Given the description of an element on the screen output the (x, y) to click on. 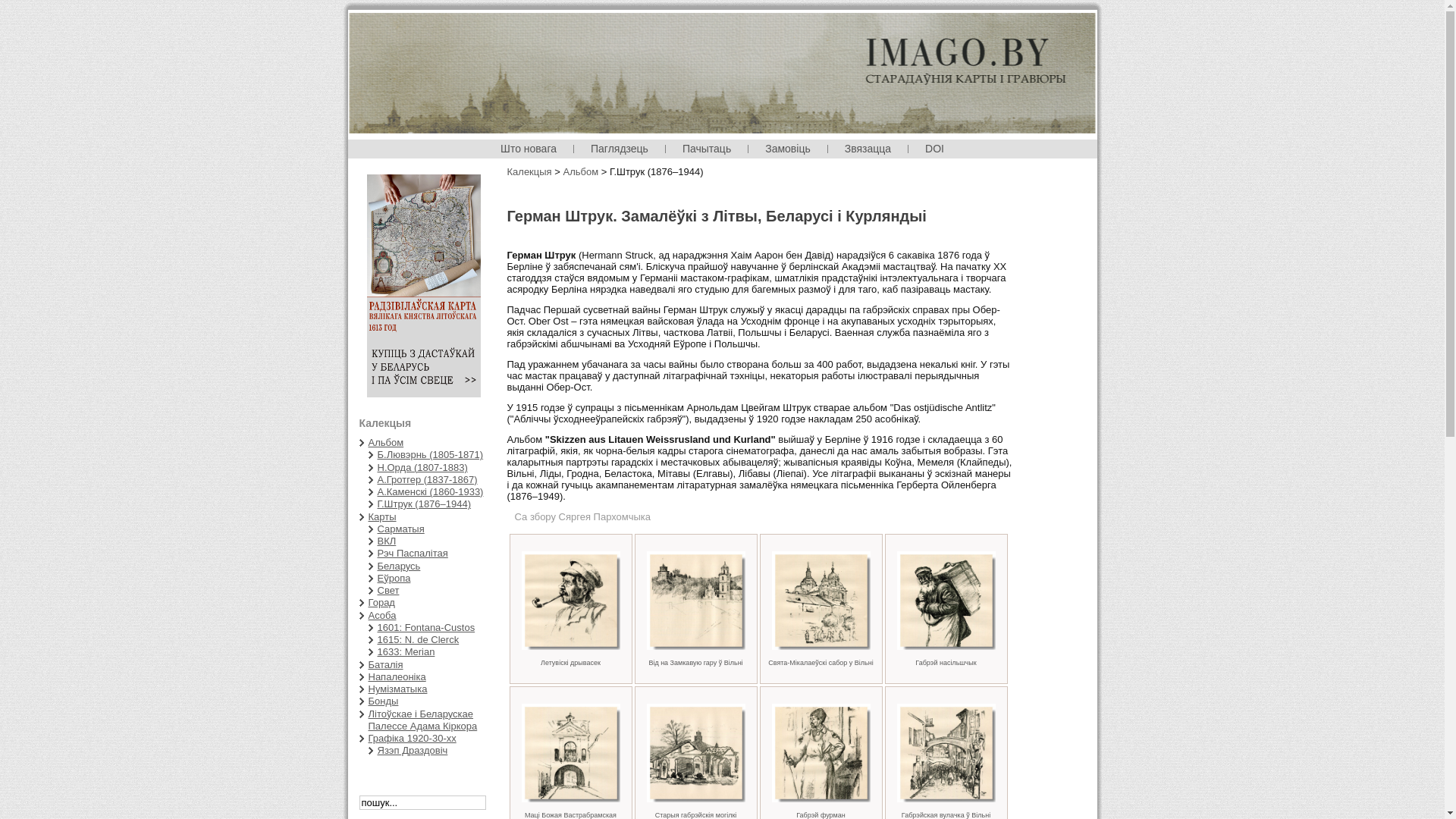
DOI Element type: text (934, 148)
1633: Merian Element type: text (406, 651)
1615: N. de Clerck Element type: text (418, 639)
1601: Fontana-Custos Element type: text (426, 627)
